Given the description of an element on the screen output the (x, y) to click on. 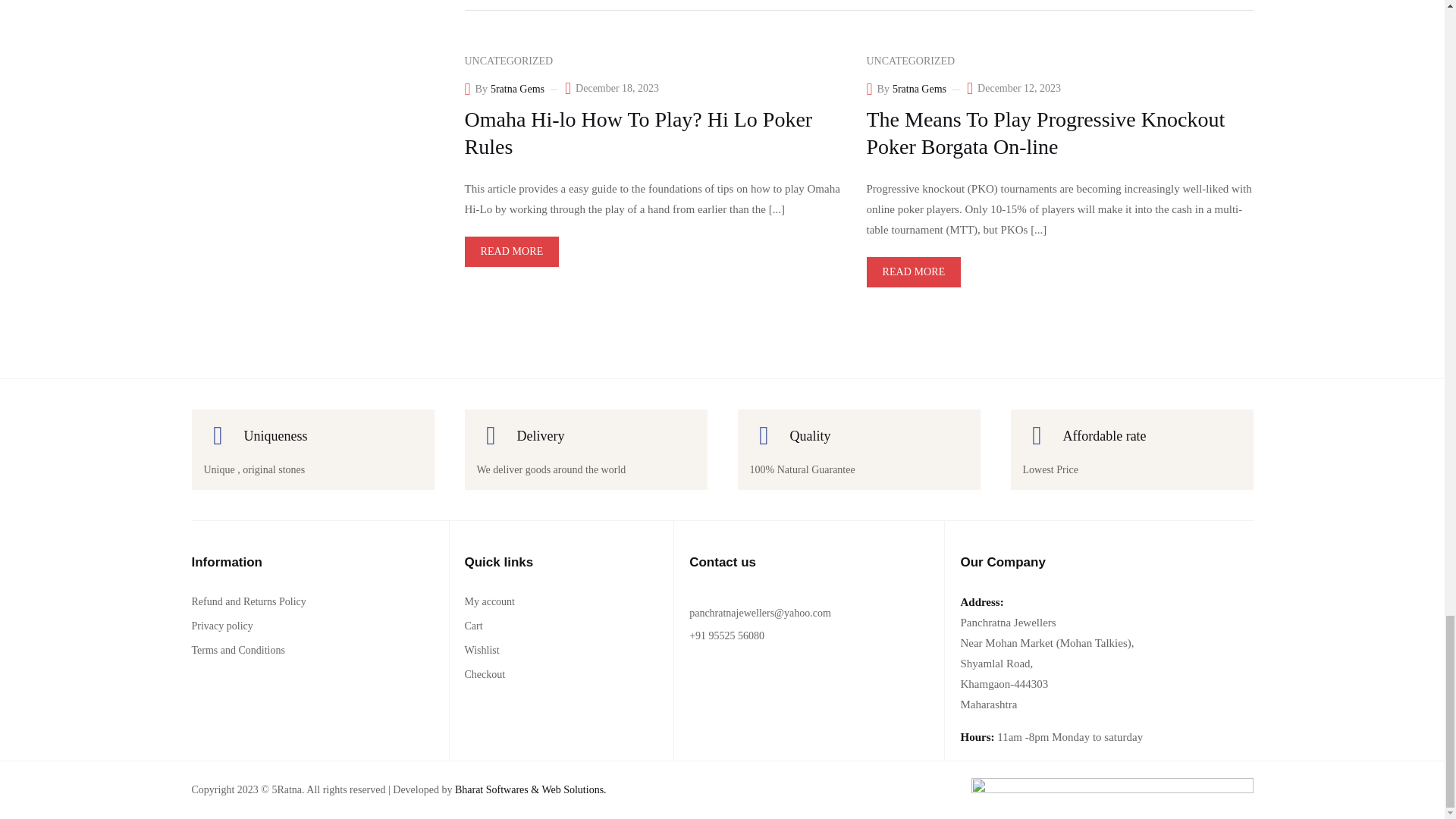
Posts by 5ratna gems (517, 89)
View all posts in Uncategorized (508, 61)
Read more (511, 251)
View all posts in Uncategorized (910, 61)
Posts by 5ratna gems (919, 89)
